Given the description of an element on the screen output the (x, y) to click on. 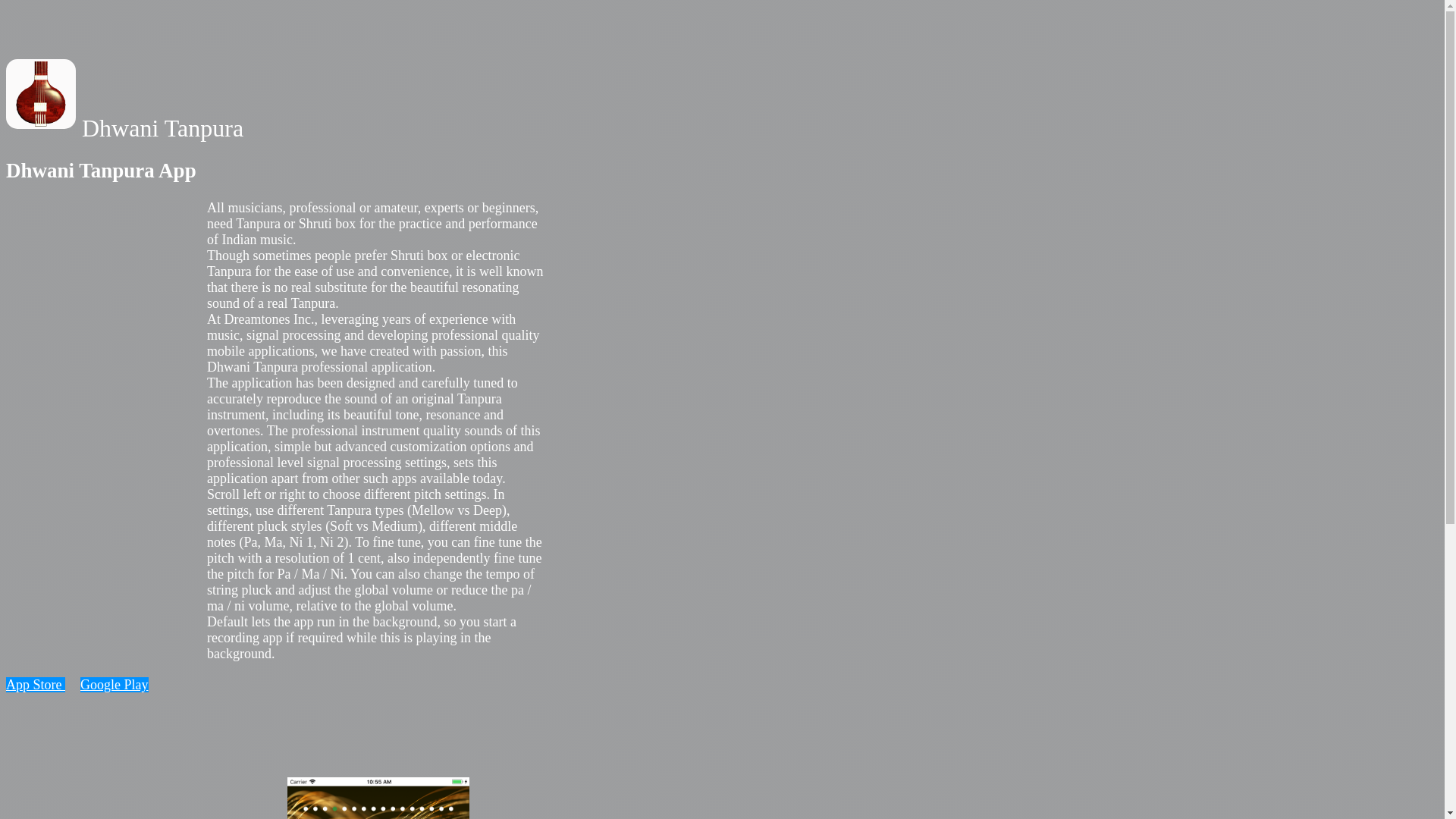
App Store (35, 684)
Google Play (114, 684)
